Given the description of an element on the screen output the (x, y) to click on. 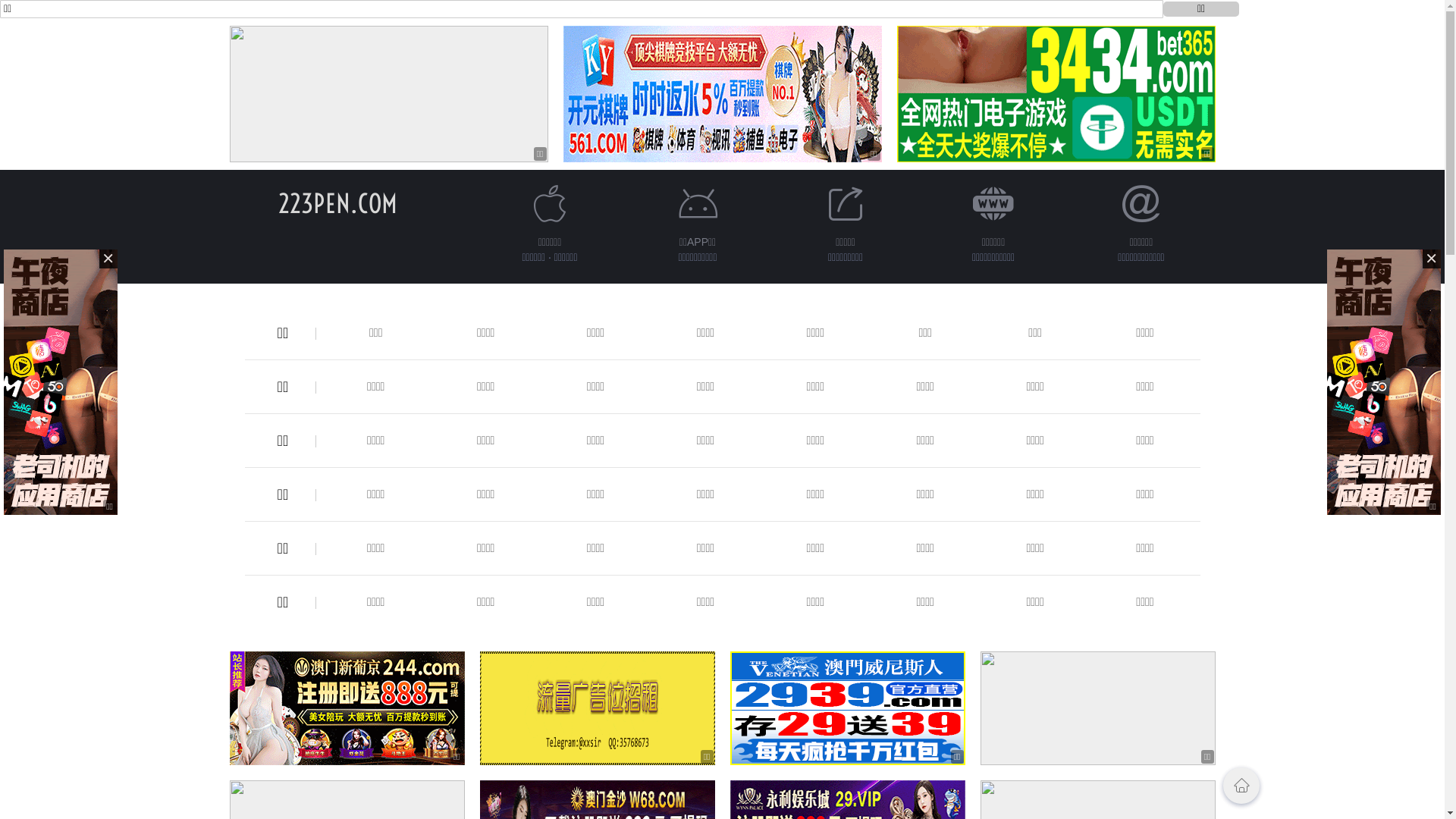
223PEN.COM Element type: text (337, 203)
